Given the description of an element on the screen output the (x, y) to click on. 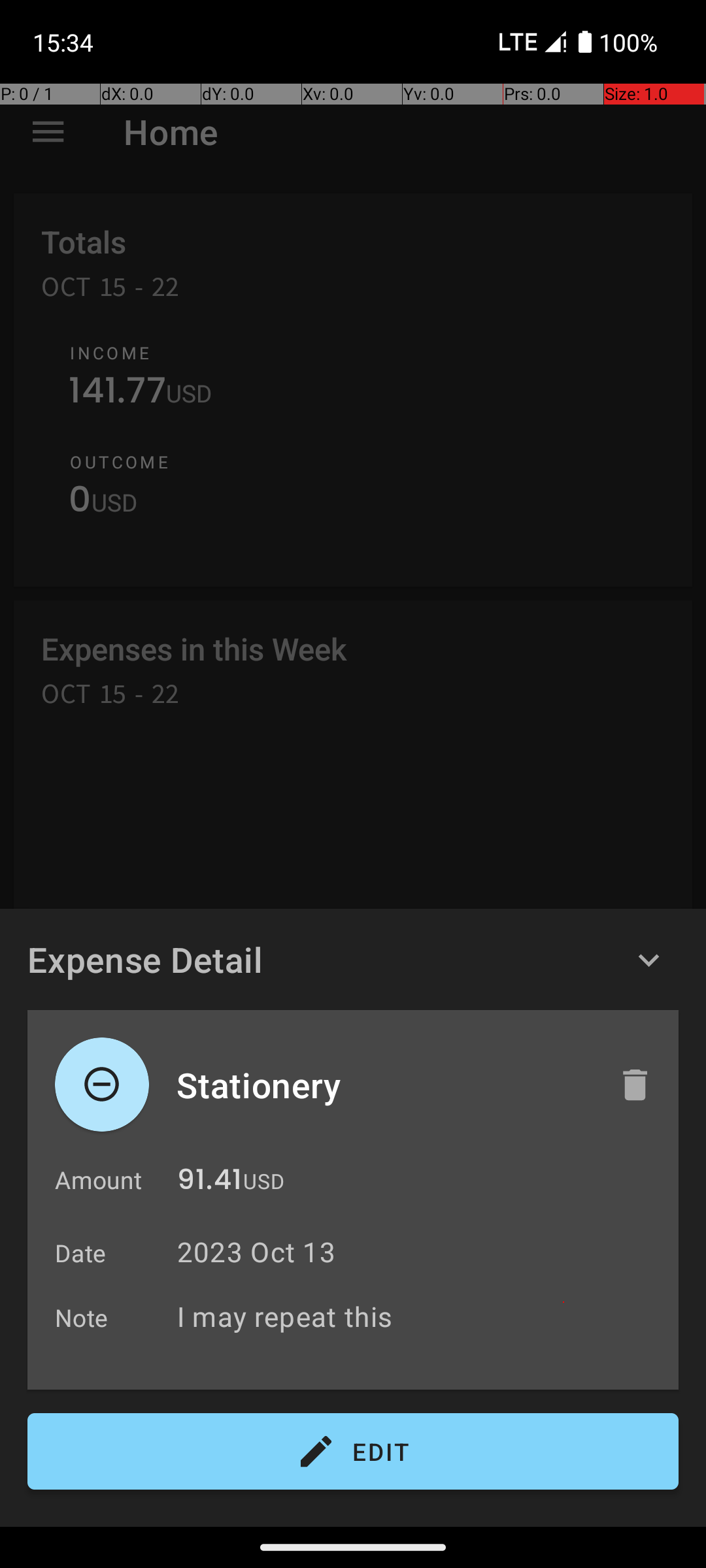
Stationery Element type: android.widget.TextView (383, 1084)
91.41 Element type: android.widget.TextView (209, 1182)
